Given the description of an element on the screen output the (x, y) to click on. 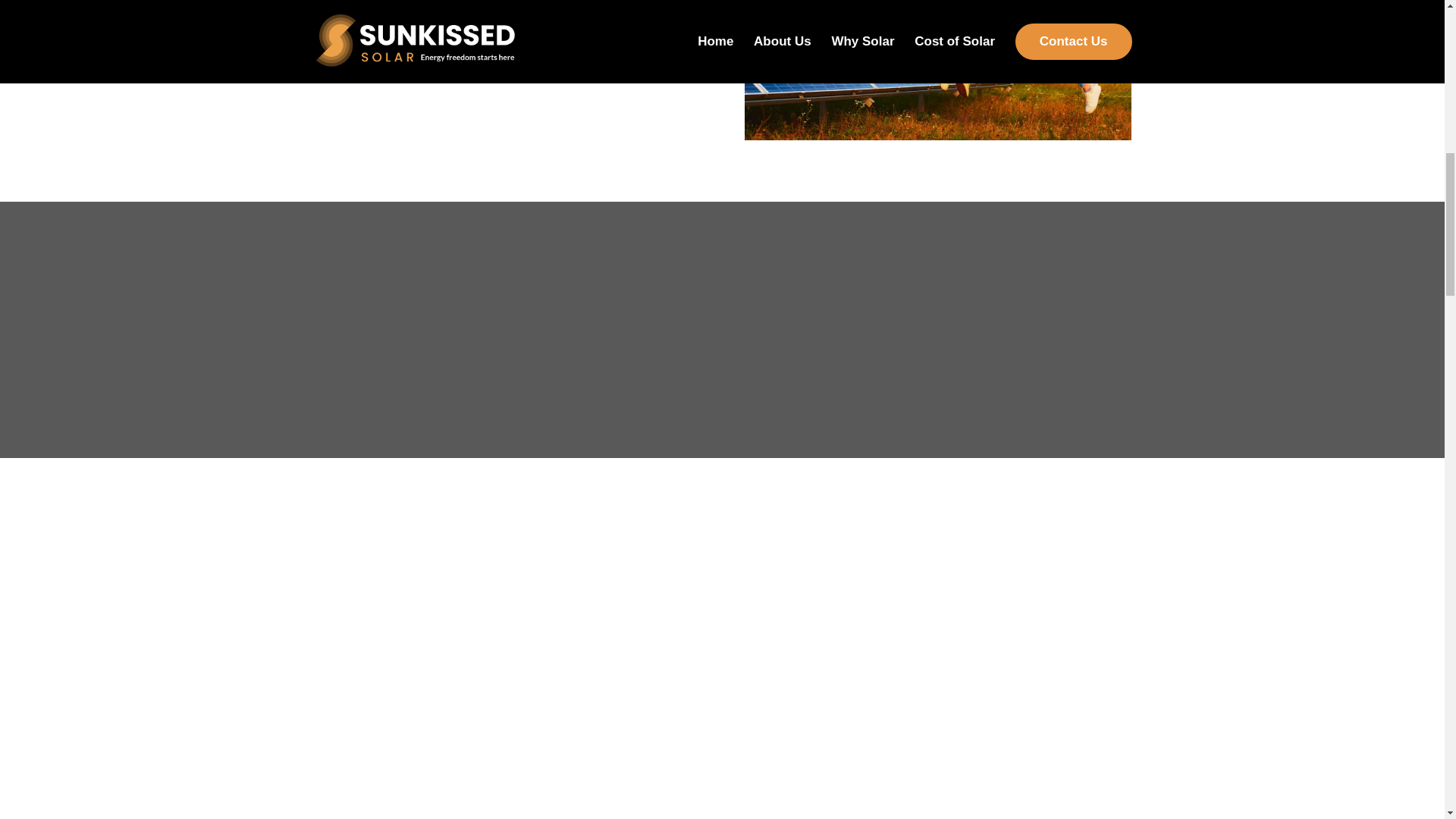
Read More (366, 38)
1 (937, 70)
